Given the description of an element on the screen output the (x, y) to click on. 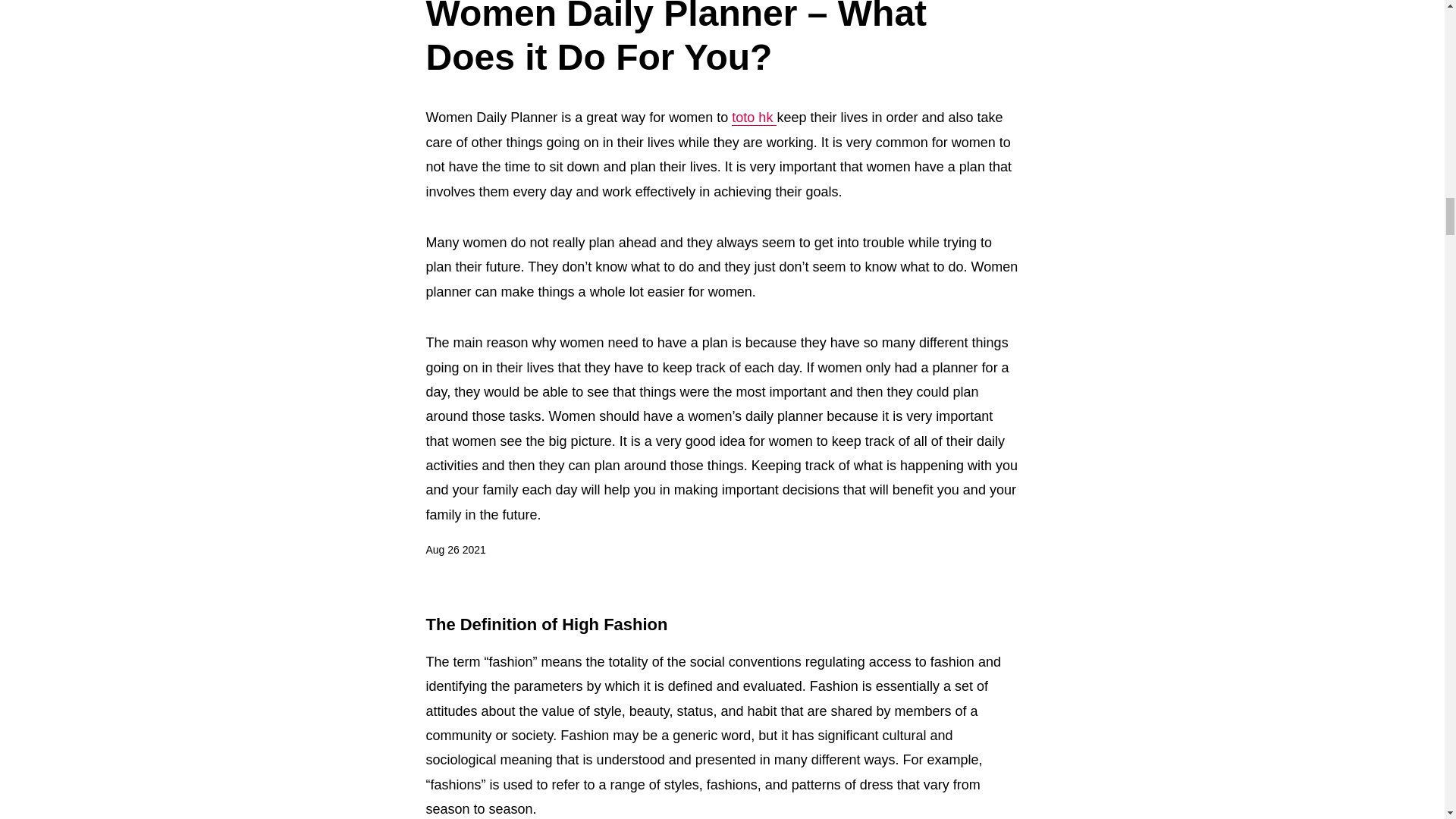
toto hk (754, 117)
Aug 26 2021 (456, 550)
The Definition of High Fashion (547, 624)
